Given the description of an element on the screen output the (x, y) to click on. 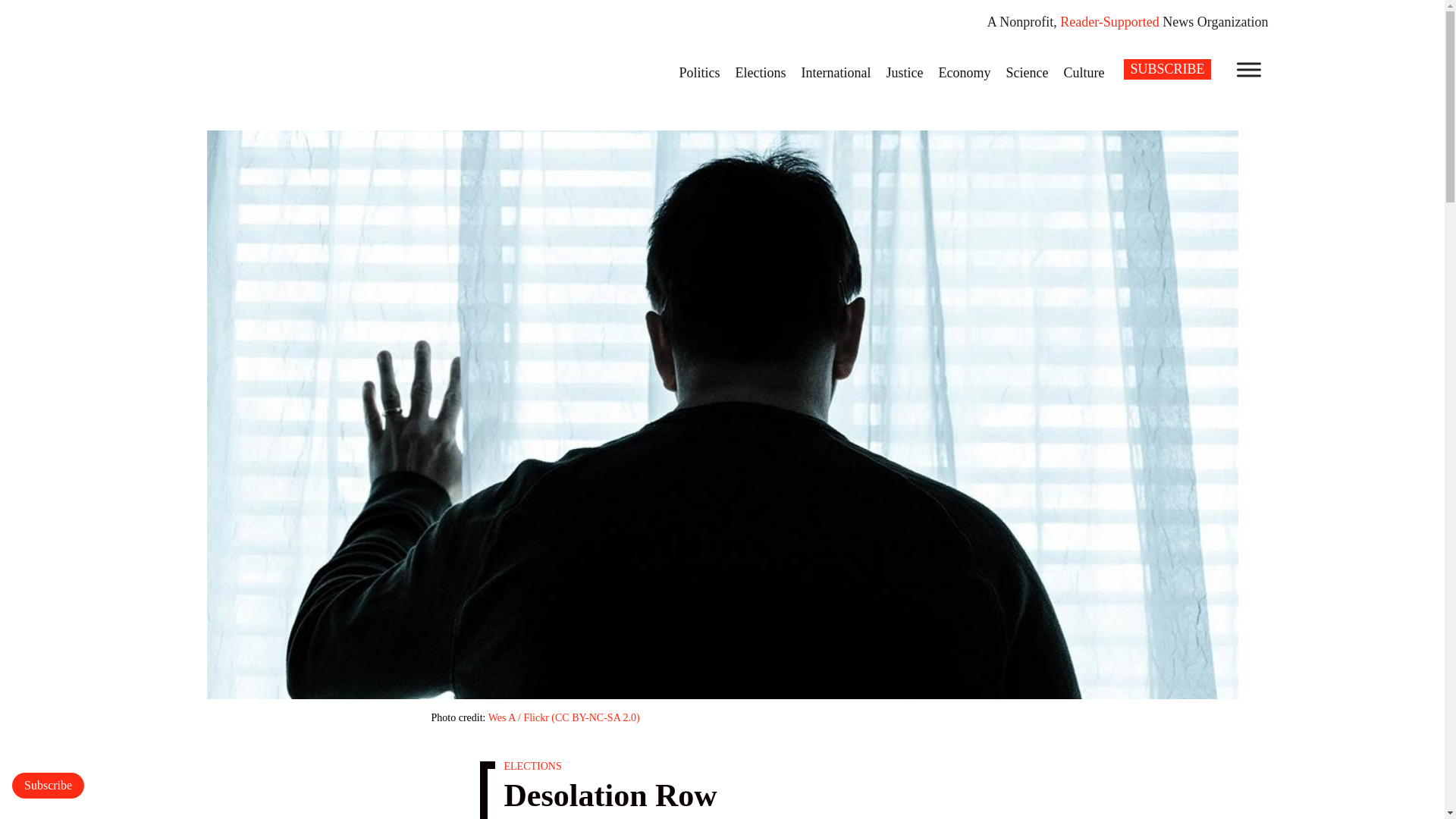
Search (21, 7)
Donate (47, 785)
Reader-Supported (1108, 21)
Economy (963, 72)
International (836, 72)
SUBSCRIBE (1166, 68)
Justice (903, 72)
Subscribe (47, 785)
Science (1026, 72)
Elections (760, 72)
